Given the description of an element on the screen output the (x, y) to click on. 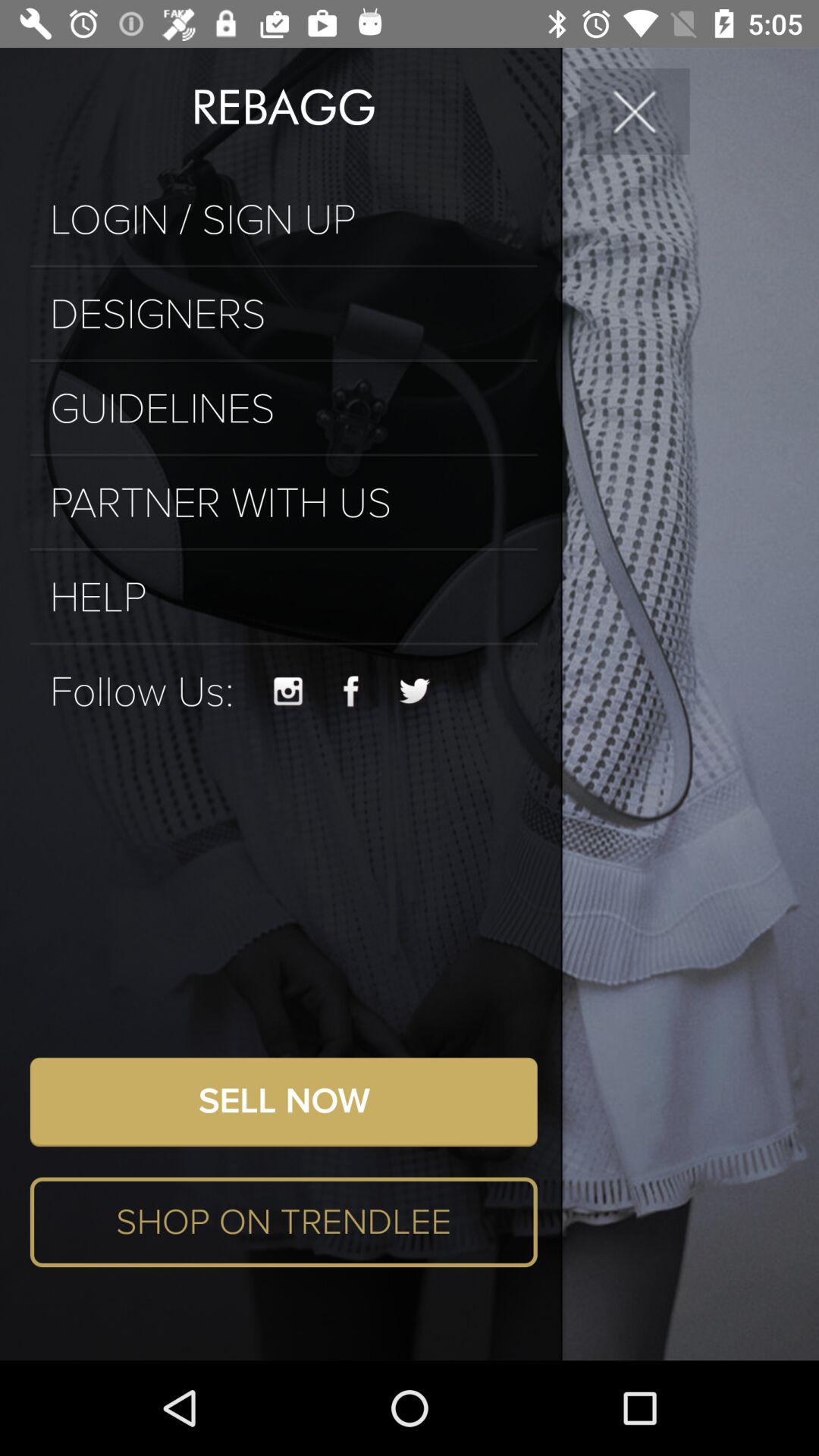
follow on twitter (415, 691)
